Given the description of an element on the screen output the (x, y) to click on. 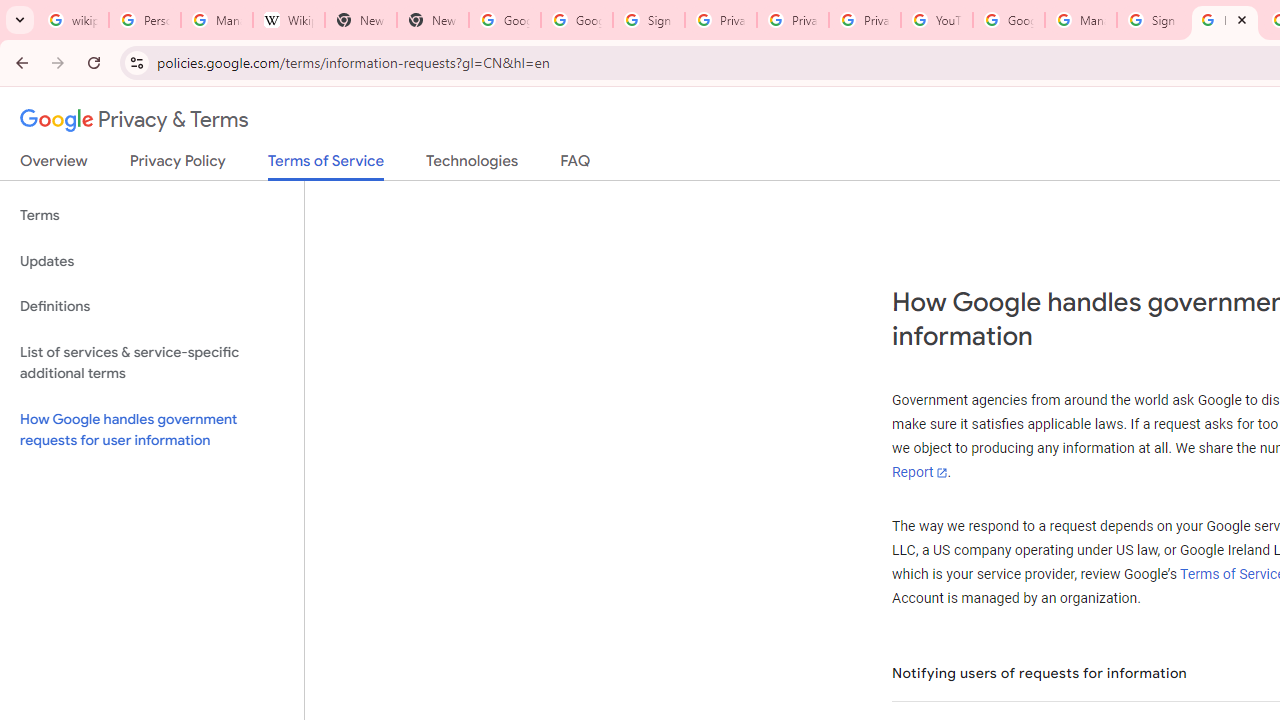
Wikipedia:Edit requests - Wikipedia (289, 20)
Google Drive: Sign-in (577, 20)
